Given the description of an element on the screen output the (x, y) to click on. 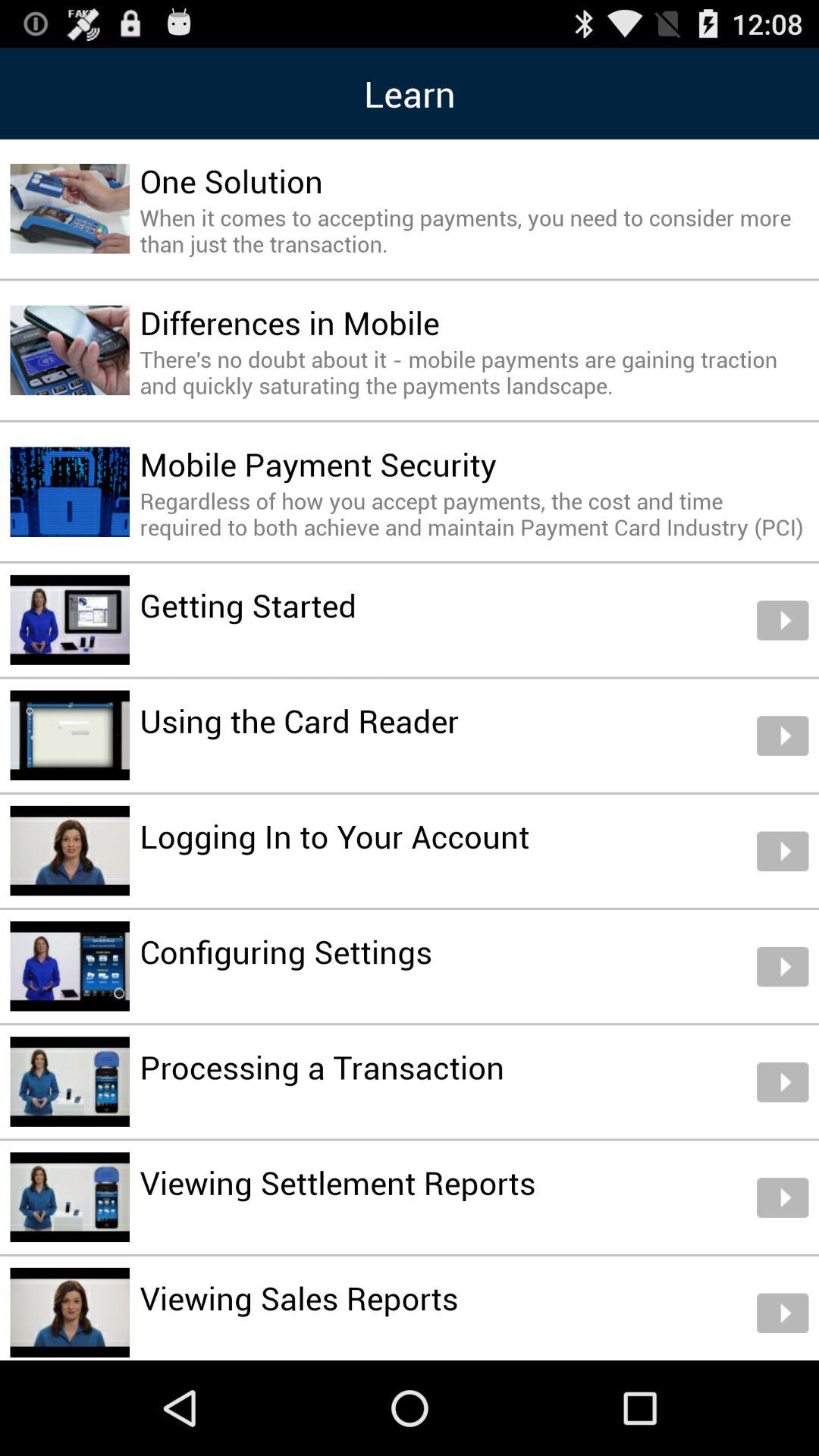
click the item below configuring settings (321, 1066)
